Given the description of an element on the screen output the (x, y) to click on. 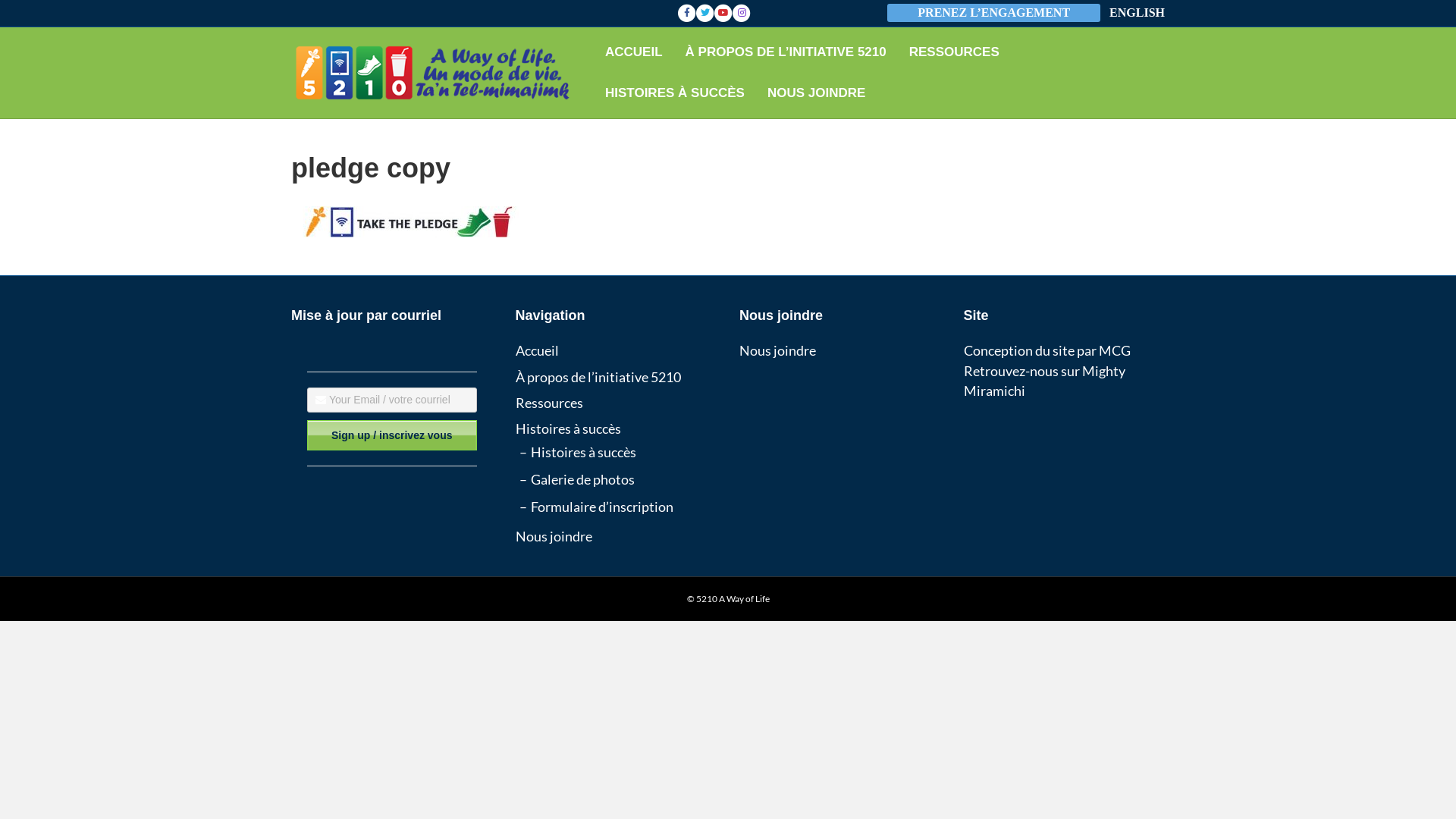
Instagram Element type: text (741, 12)
ACCUEIL Element type: text (633, 51)
Accueil Element type: text (536, 350)
ENGLISH Element type: text (1136, 12)
RESSOURCES Element type: text (953, 51)
Nous joindre Element type: text (553, 535)
Sign up / inscrivez vous Element type: text (391, 435)
MCG Element type: text (1113, 350)
Nous joindre Element type: text (777, 350)
Mighty Miramichi Element type: text (1043, 380)
Ressources Element type: text (549, 402)
Twitter Element type: text (705, 12)
Galerie de photos Element type: text (582, 478)
Youtube Element type: text (723, 12)
NOUS JOINDRE Element type: text (816, 92)
Facebook Element type: text (686, 12)
